Given the description of an element on the screen output the (x, y) to click on. 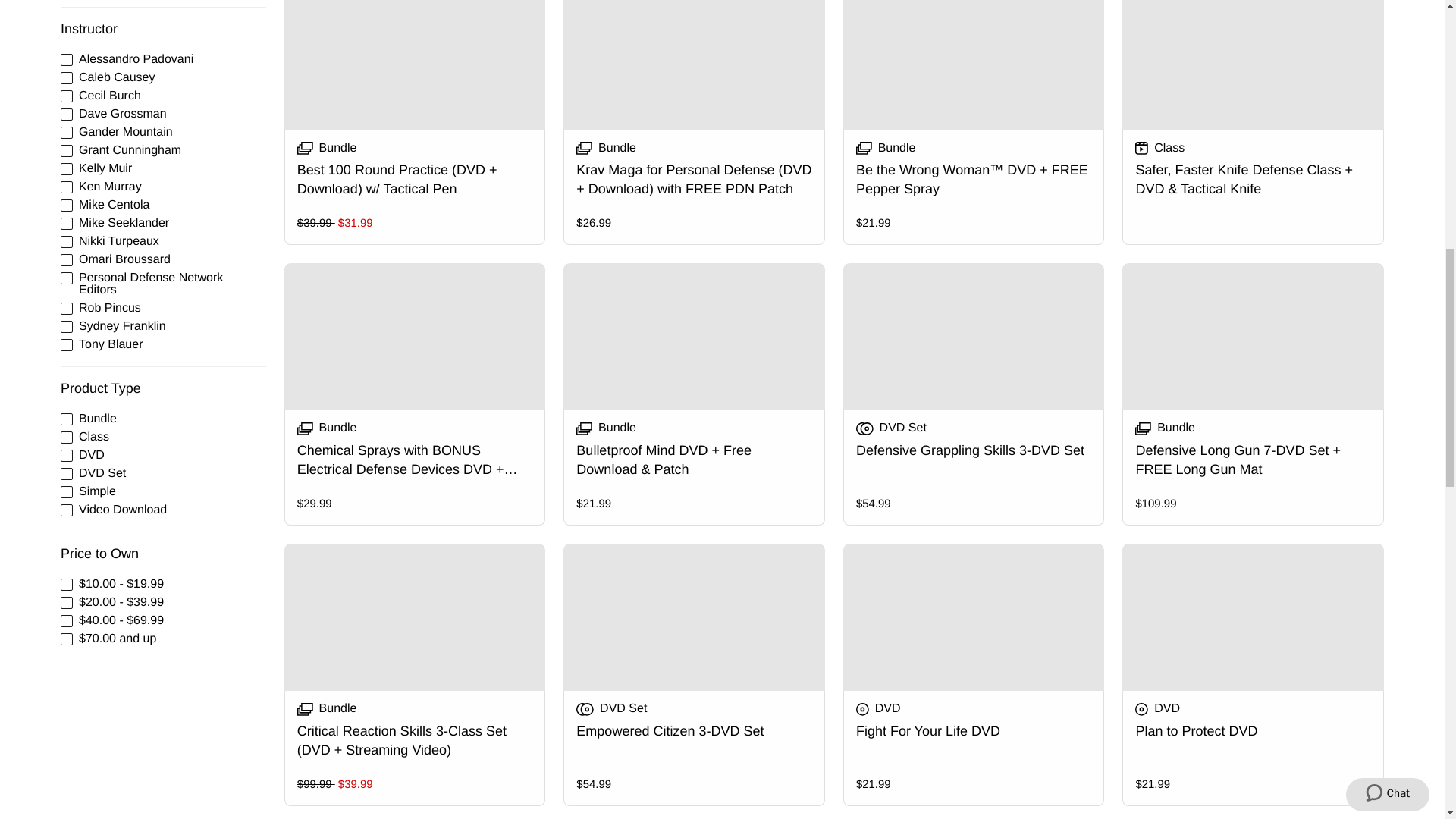
Price to Own (163, 553)
Defensive Grappling Skills 3-DVD Set (974, 393)
instructor:100753 (66, 60)
instructor:148036 (66, 132)
Fight For Your Life DVD (974, 674)
Product Type (163, 388)
Empowered Citizen 3-DVD Set (694, 674)
instructor:25 (66, 78)
instructor:68829 (66, 150)
instructor:148040 (66, 168)
